Given the description of an element on the screen output the (x, y) to click on. 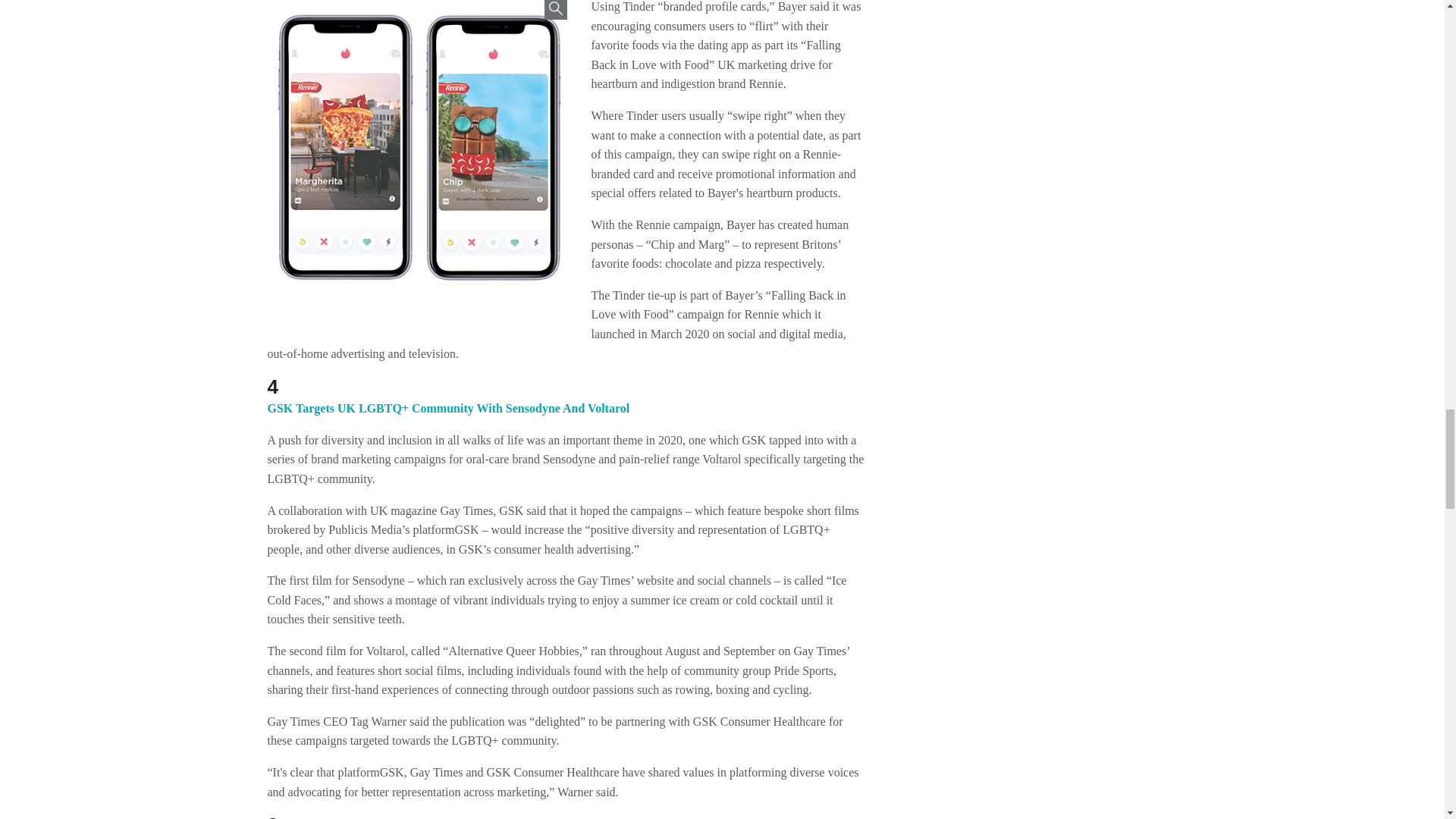
iphones (416, 156)
